Given the description of an element on the screen output the (x, y) to click on. 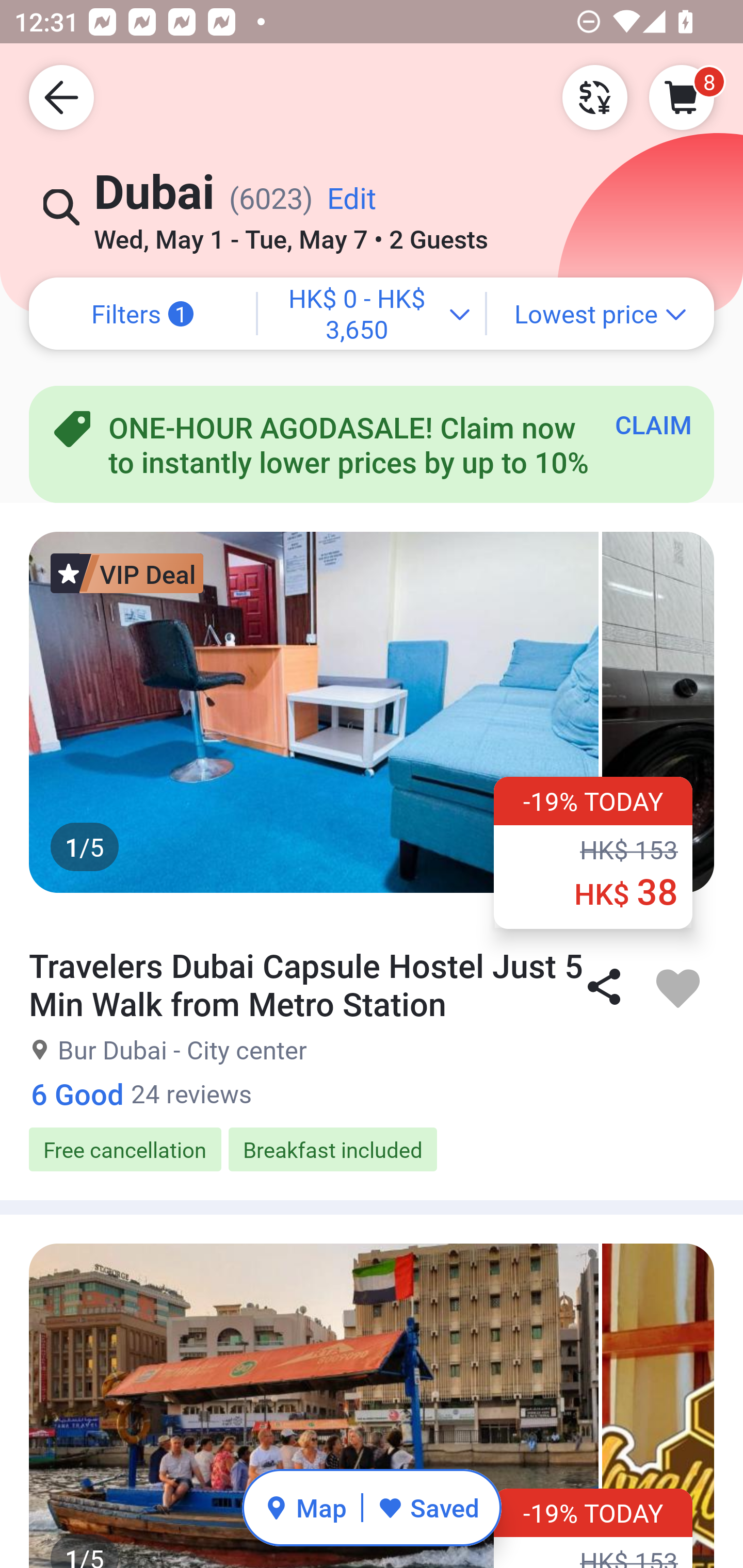
Wed, May 1 - Tue, May 7 • 2 Guests (290, 232)
Filters 1 (141, 313)
⁦HK$ 0⁩ - ⁦HK$ 3,650⁩ (371, 313)
Lowest price (600, 313)
CLAIM (653, 424)
VIP Deal (126, 572)
1/5 (371, 711)
-19% TODAY ‪HK$ 153 ‪HK$ 38 (593, 852)
Free cancellation Breakfast included (371, 1150)
1/5 (371, 1405)
Map (305, 1507)
Saved (428, 1507)
-19% TODAY ‪HK$ 153 (593, 1528)
